Given the description of an element on the screen output the (x, y) to click on. 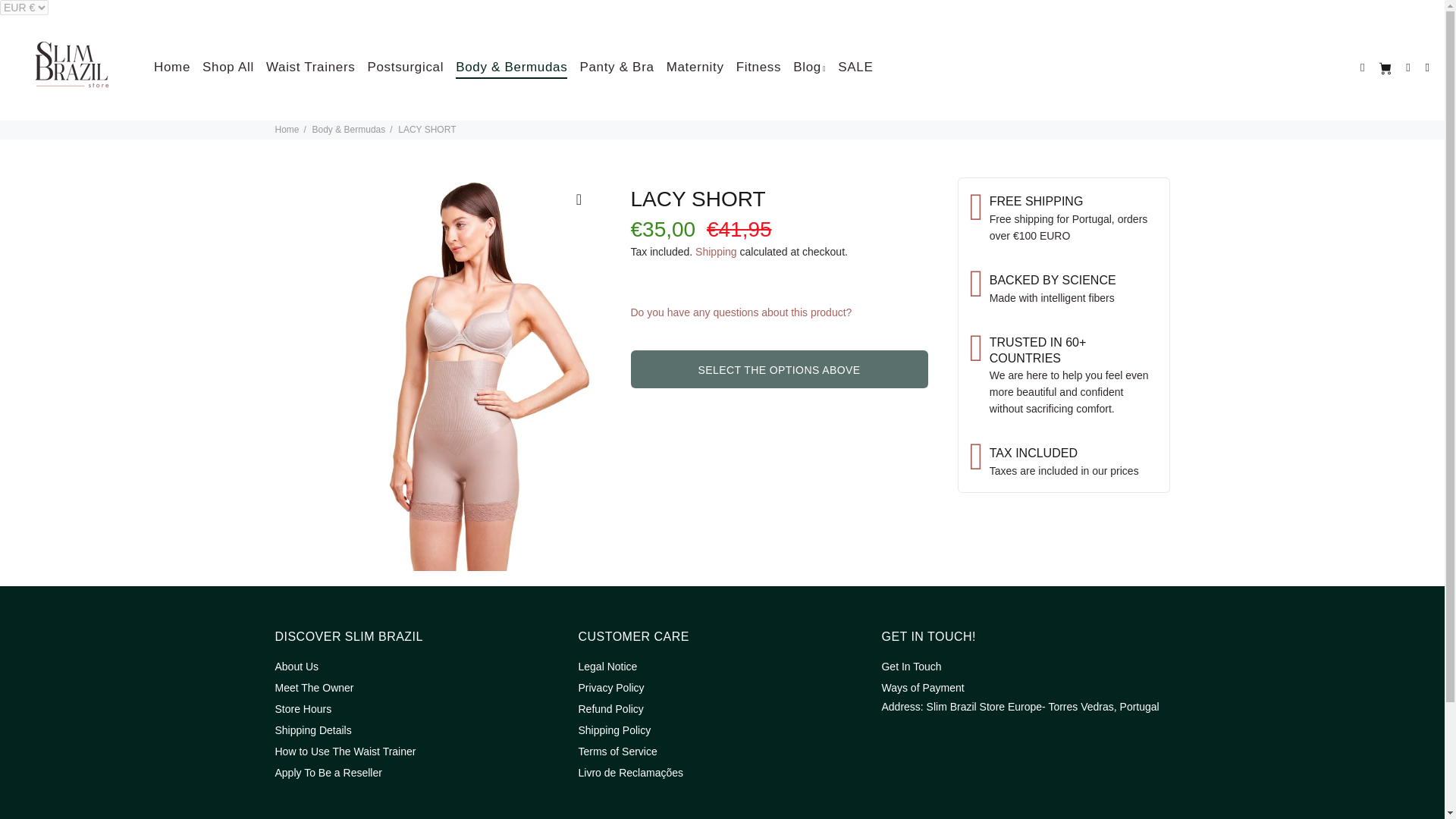
Fitness (758, 67)
Blog (809, 67)
SALE (851, 67)
Postsurgical (405, 67)
Waist Trainers (310, 67)
Shop All (228, 67)
Maternity (695, 67)
Home (170, 67)
